Given the description of an element on the screen output the (x, y) to click on. 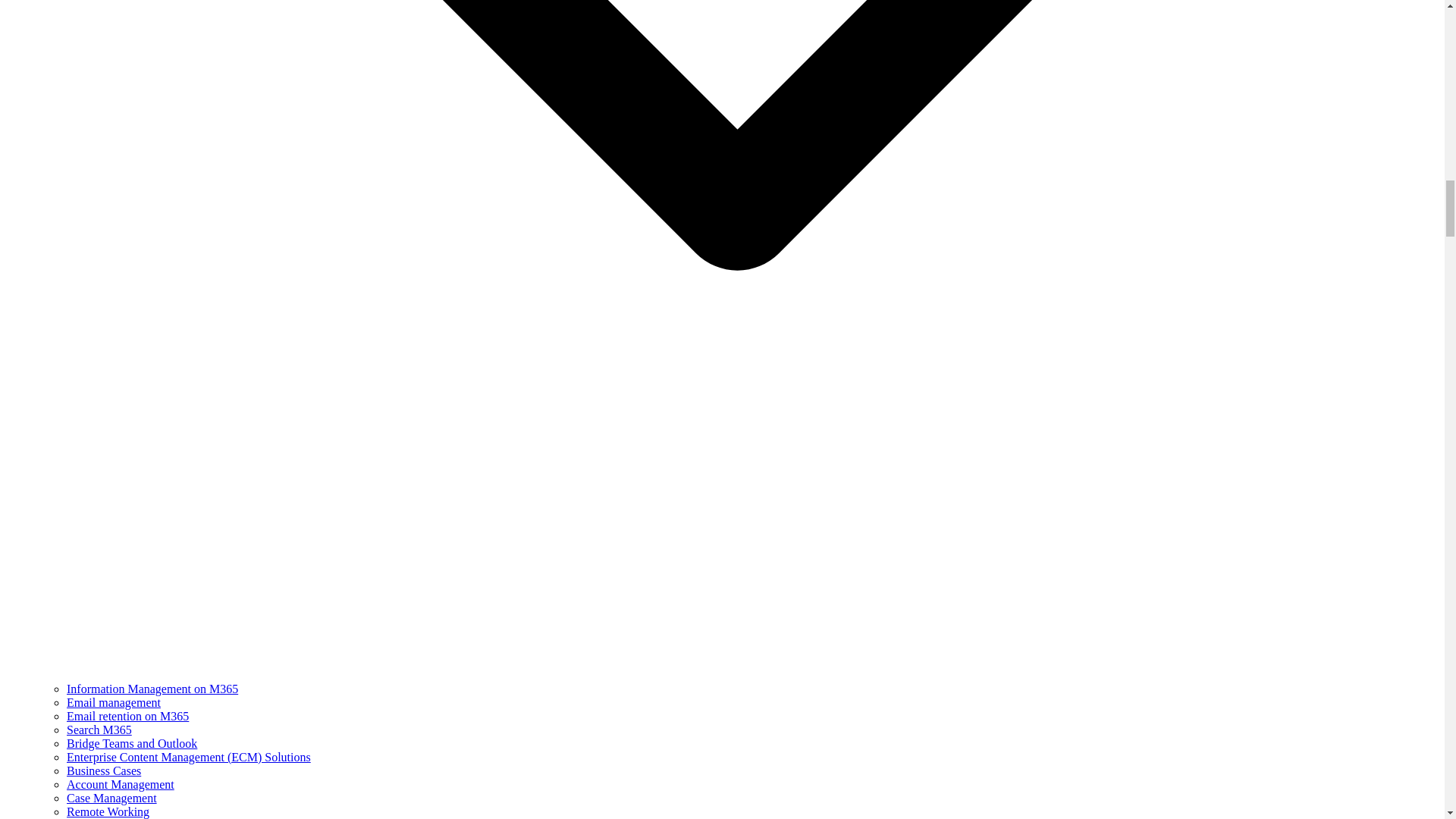
Email management (113, 702)
Bridge Teams and Outlook (131, 743)
Remote Working (107, 811)
Account Management (120, 784)
Case Management (111, 797)
Information Management on M365 (152, 688)
Search M365 (99, 729)
Email retention on M365 (127, 716)
Business Cases (103, 770)
